Given the description of an element on the screen output the (x, y) to click on. 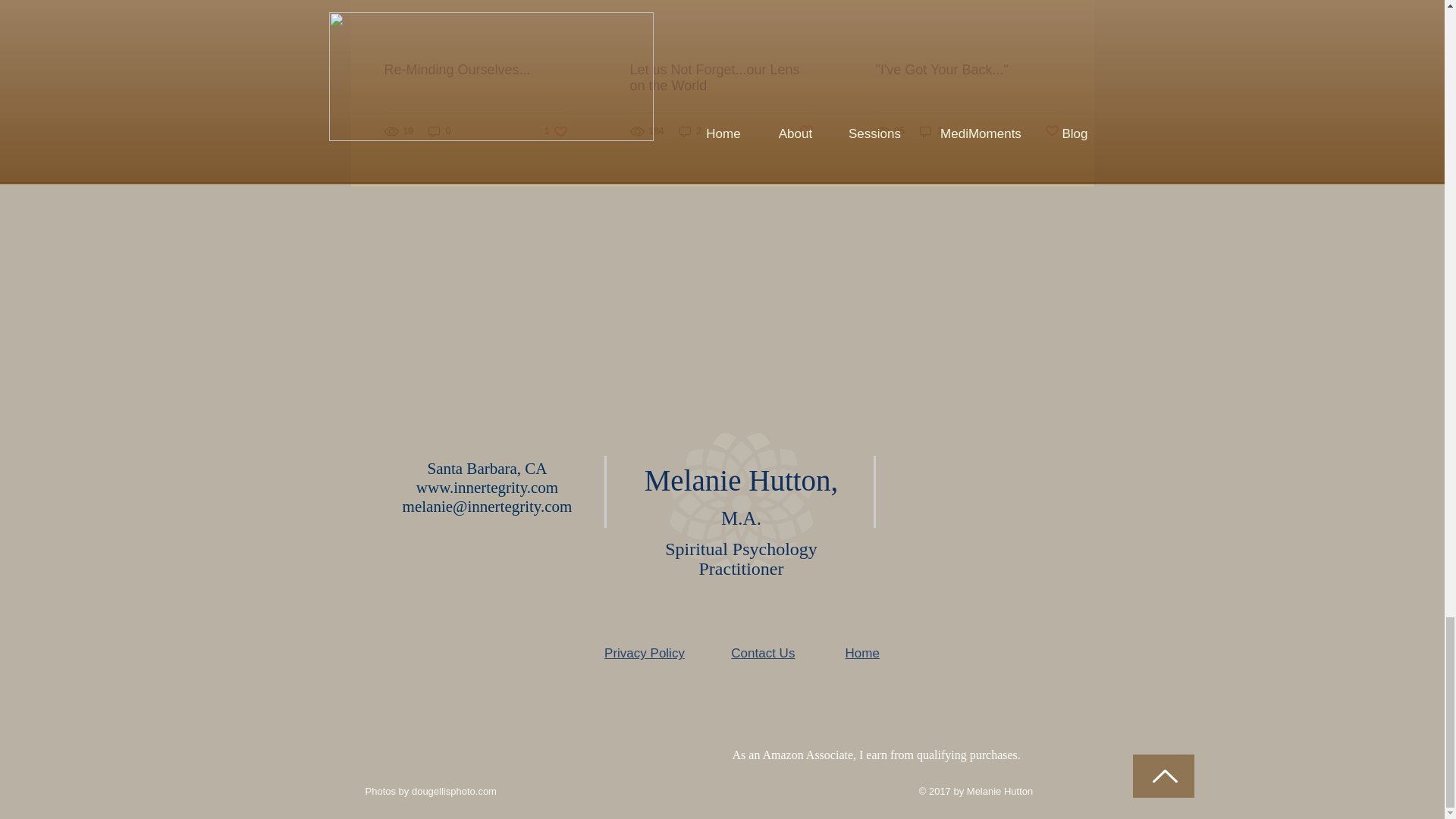
www.innertegrity.com (486, 487)
2 (555, 131)
0 (930, 131)
2 (439, 131)
Let us Not Forget...our Lens on the World (690, 131)
Post not marked as liked (720, 78)
"I've Got Your Back..." (806, 131)
Re-Minding Ourselves... (966, 69)
Privacy Policy (475, 69)
